Given the description of an element on the screen output the (x, y) to click on. 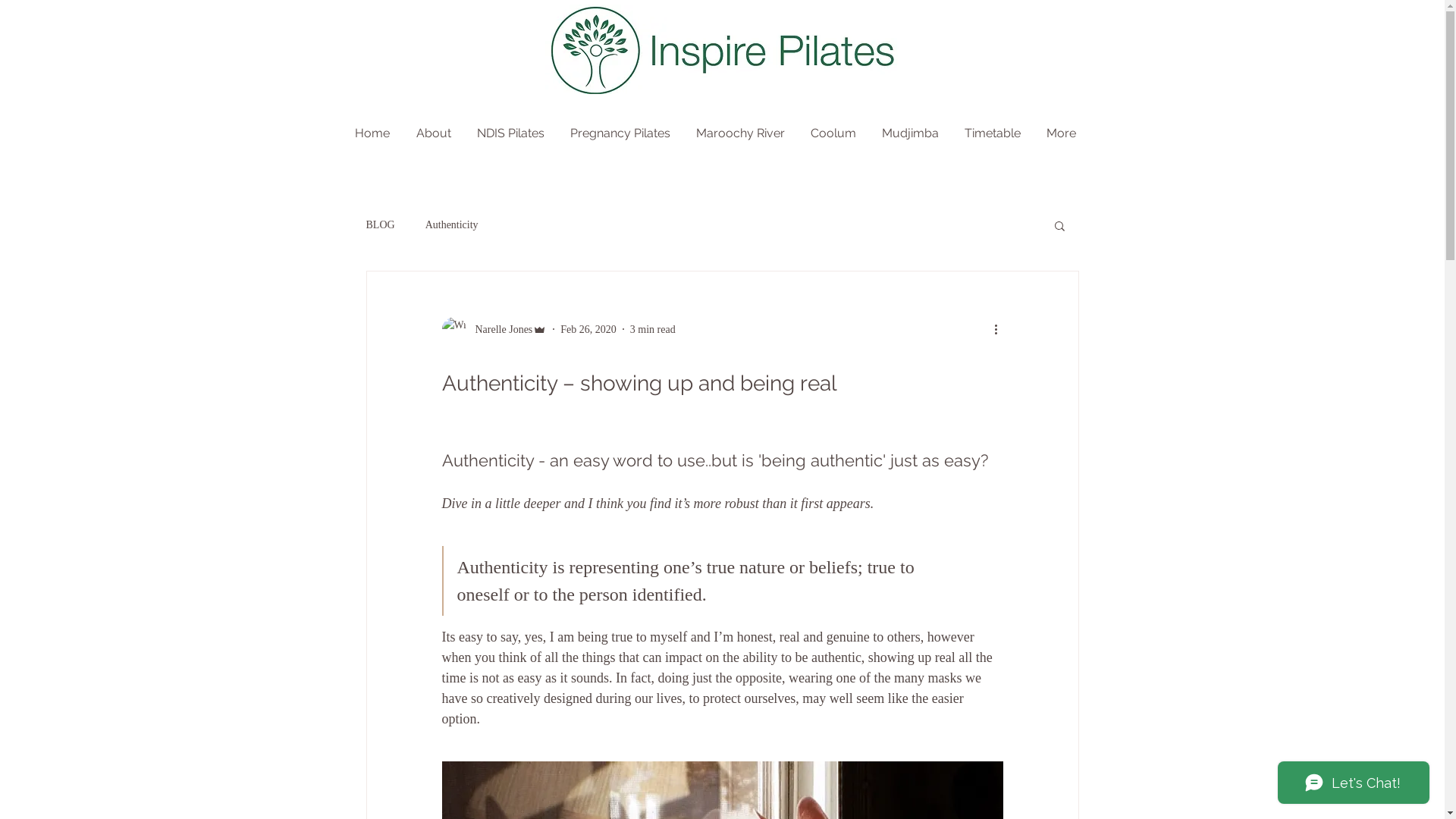
Narelle Jones Element type: text (493, 328)
Timetable Element type: text (997, 133)
Home Element type: text (377, 133)
Maroochy River Element type: text (745, 133)
Authenticity Element type: text (451, 225)
Pregnancy Pilates Element type: text (625, 133)
About Element type: text (437, 133)
NDIS Pilates Element type: text (514, 133)
BLOG Element type: text (379, 225)
Coolum Element type: text (837, 133)
Mudjimba Element type: text (914, 133)
